Given the description of an element on the screen output the (x, y) to click on. 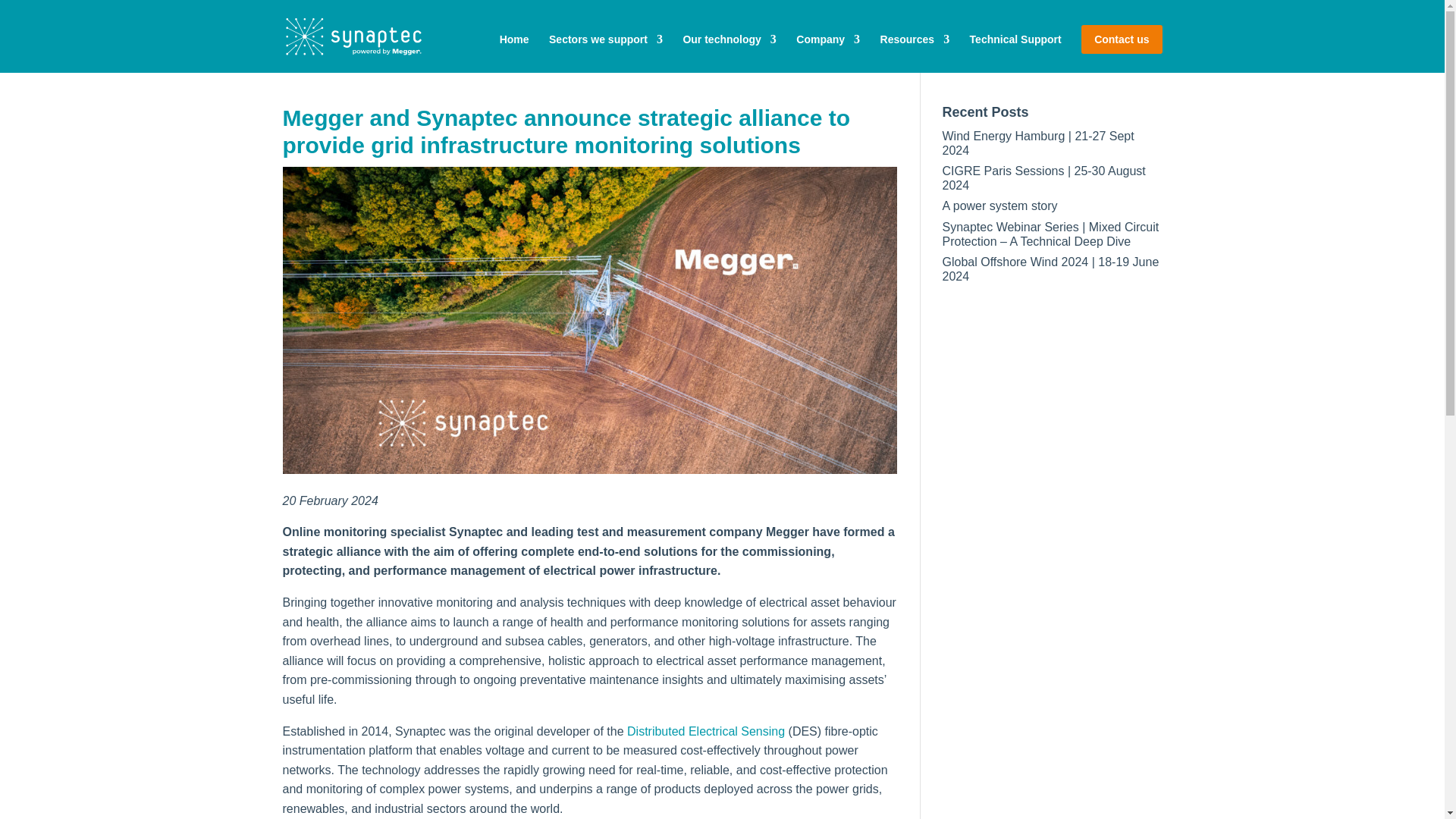
Technical Support (1015, 39)
Sectors we support (605, 39)
Our technology (729, 39)
Company (828, 39)
Home (514, 39)
Resources (915, 39)
